Given the description of an element on the screen output the (x, y) to click on. 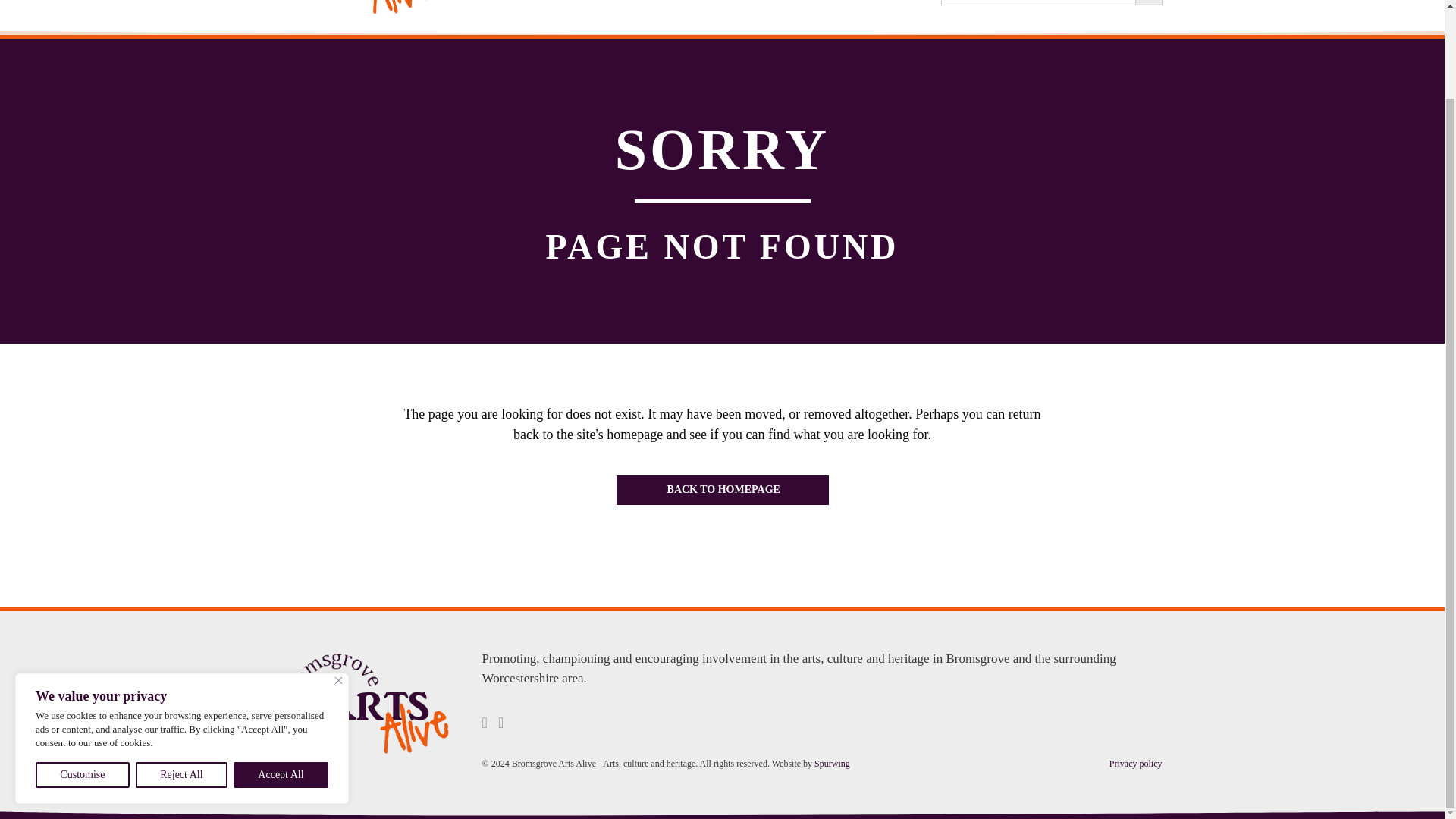
Customise (81, 673)
Reject All (181, 673)
bromsgrove-Arts-Alive-logo-cropped (357, 8)
Accept All (280, 673)
bromsgrove-Arts-Alive-logo-cropped (366, 703)
